Given the description of an element on the screen output the (x, y) to click on. 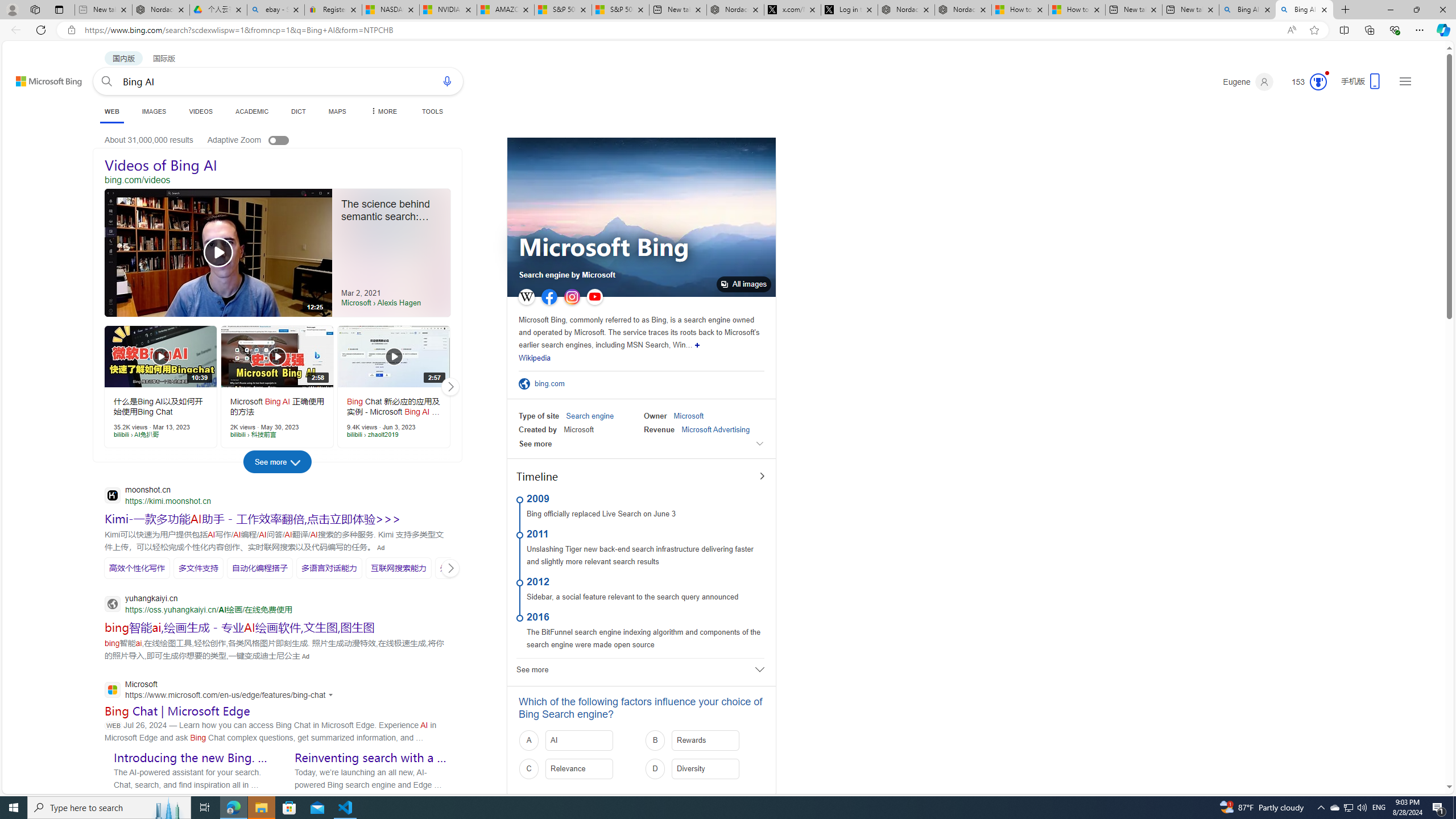
Skip to content (35, 76)
YouTube (594, 296)
Videos of Bing AI (276, 165)
SERP,5714 (136, 567)
MORE (382, 111)
WEB (111, 112)
SERP,5719 (463, 567)
ebay - Search (274, 9)
Dropdown Menu (382, 111)
SERP,5717 (328, 568)
